Given the description of an element on the screen output the (x, y) to click on. 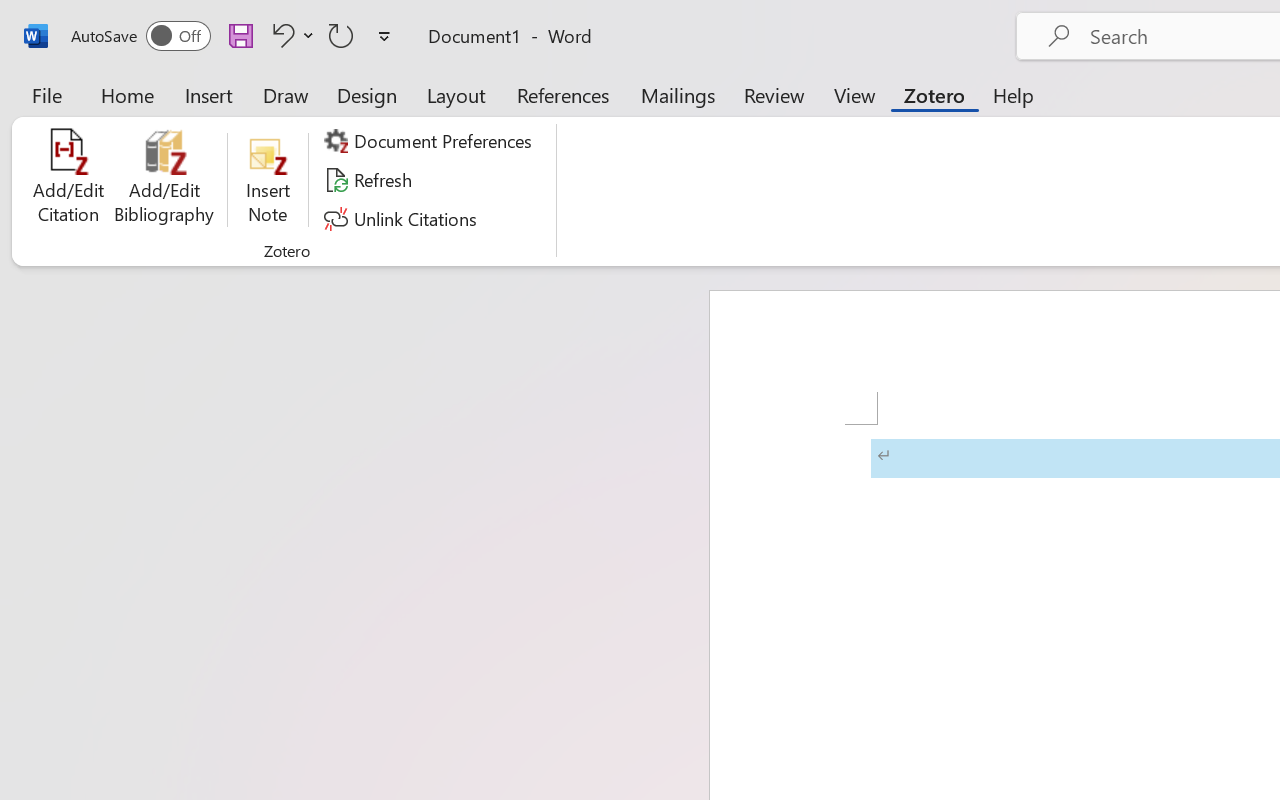
Undo Apply Quick Style (290, 35)
Insert Note (267, 179)
Refresh (370, 179)
Repeat Style (341, 35)
Add/Edit Bibliography (164, 179)
